Given the description of an element on the screen output the (x, y) to click on. 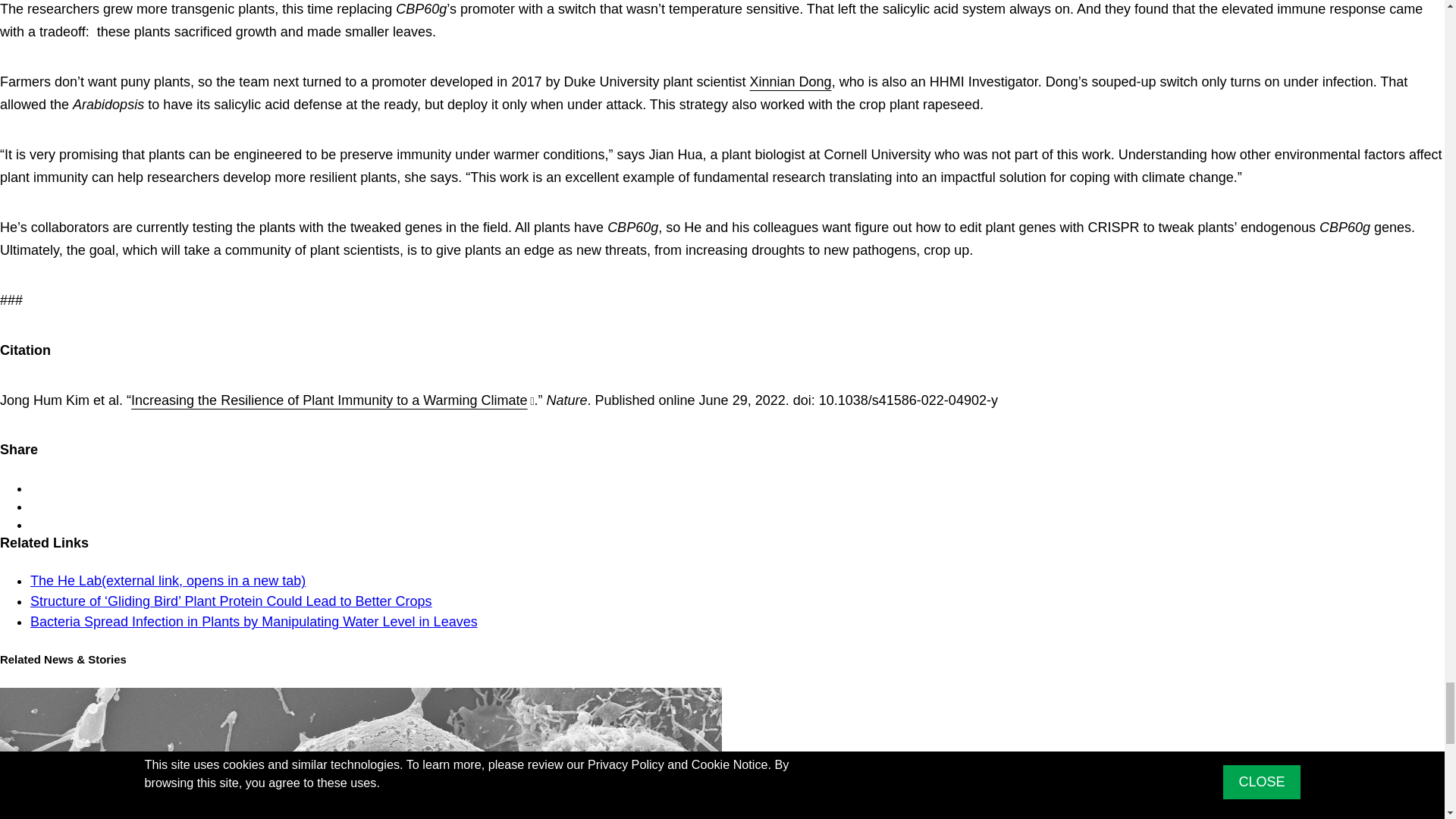
Xinnian Dong (790, 81)
